Given the description of an element on the screen output the (x, y) to click on. 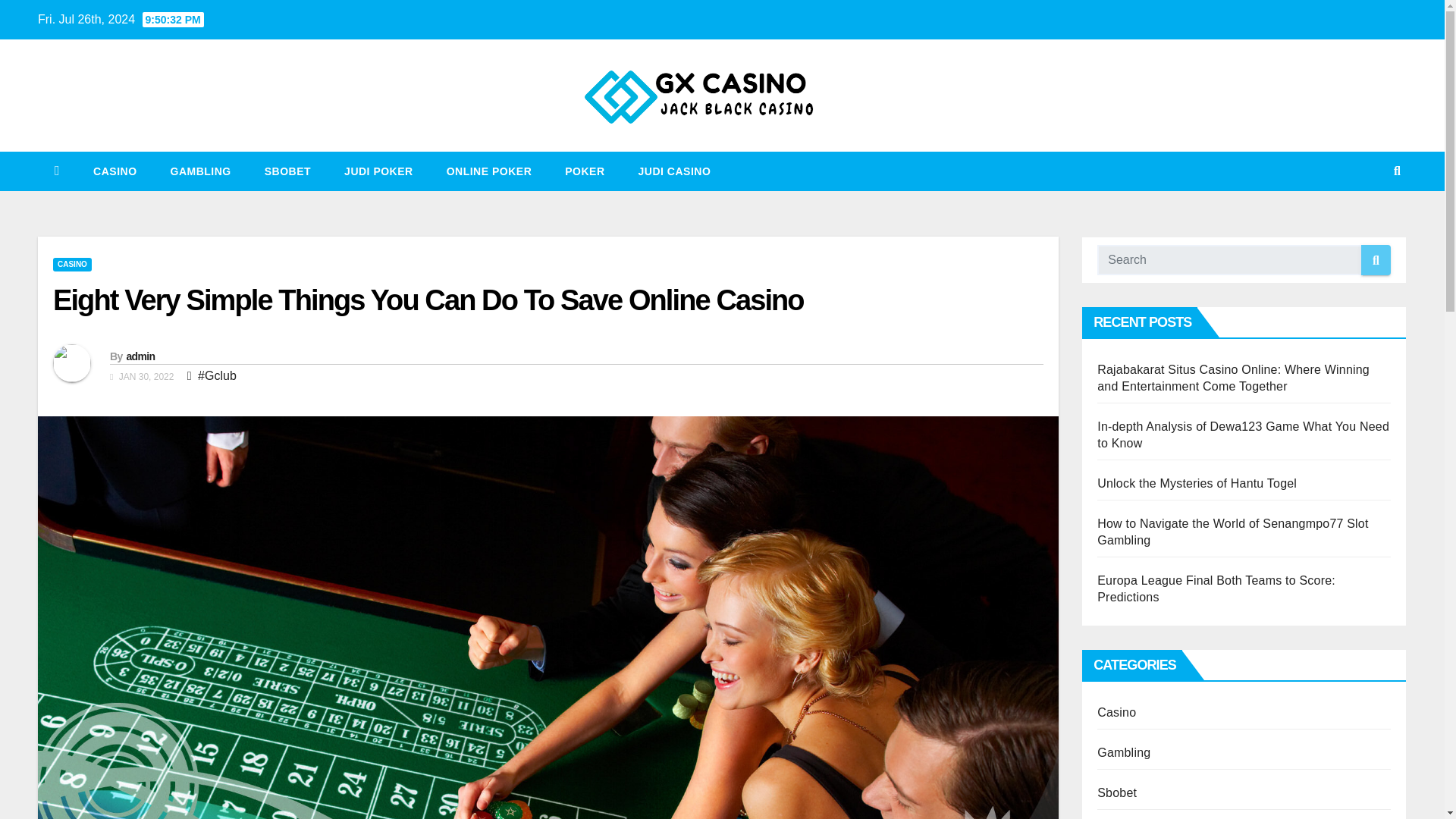
Poker (584, 170)
POKER (584, 170)
ONLINE POKER (488, 170)
Judi Casino (674, 170)
SBOBET (287, 170)
CASINO (71, 264)
Online Poker (488, 170)
Gambling (200, 170)
Judi Poker (378, 170)
JUDI POKER (378, 170)
Sbobet (287, 170)
JUDI CASINO (674, 170)
Eight Very Simple Things You Can Do To Save Online Casino (427, 300)
admin (139, 356)
GAMBLING (200, 170)
